Given the description of an element on the screen output the (x, y) to click on. 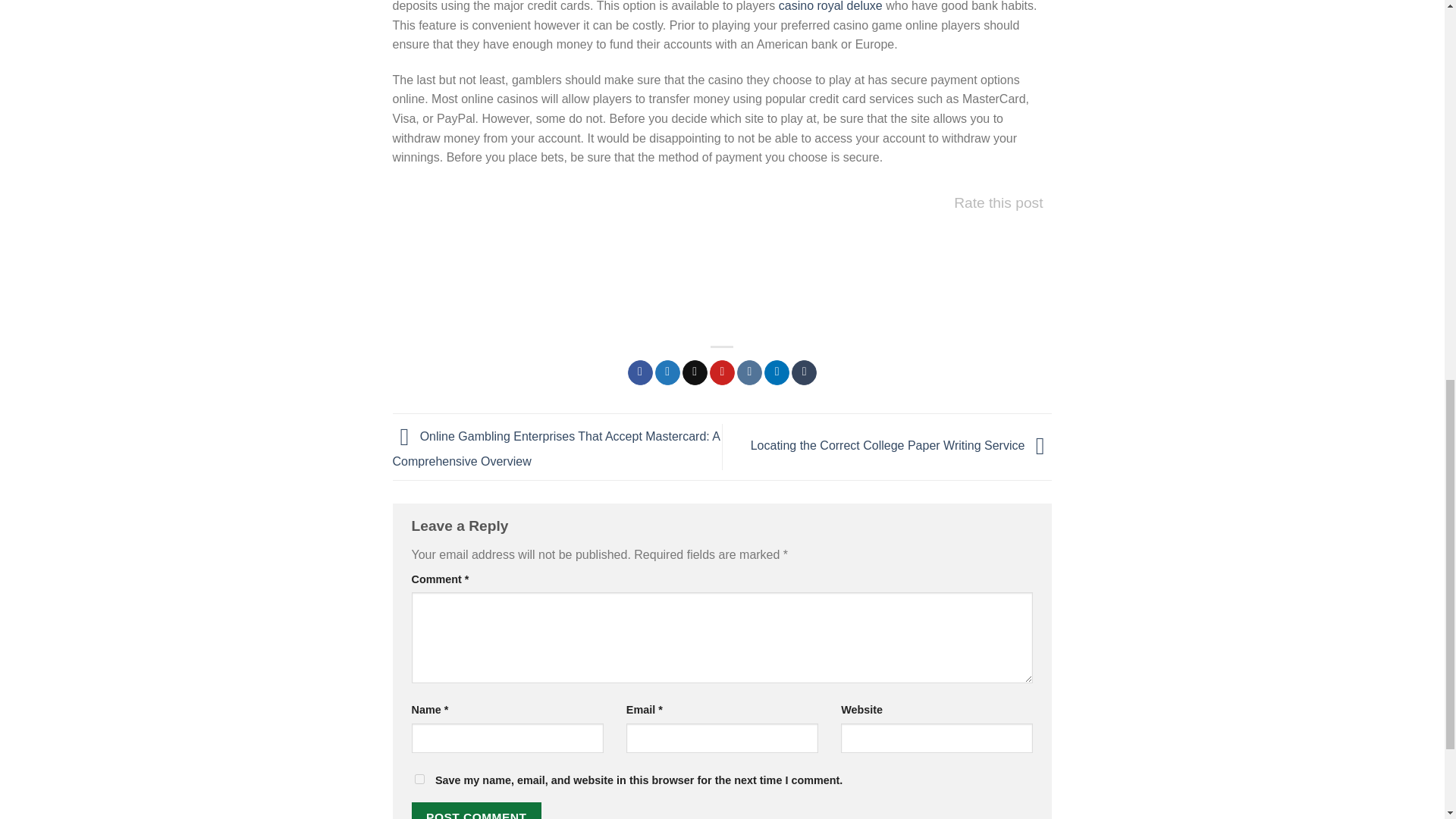
Share on Facebook (639, 372)
yes (418, 778)
Post Comment (475, 810)
Email to a Friend (694, 372)
casino royal deluxe (830, 6)
Share on VKontakte (748, 372)
Post Comment (475, 810)
Pin on Pinterest (722, 372)
Share on Twitter (667, 372)
Share on Tumblr (804, 372)
Share on LinkedIn (776, 372)
Locating the Correct College Paper Writing Service (901, 445)
